Given the description of an element on the screen output the (x, y) to click on. 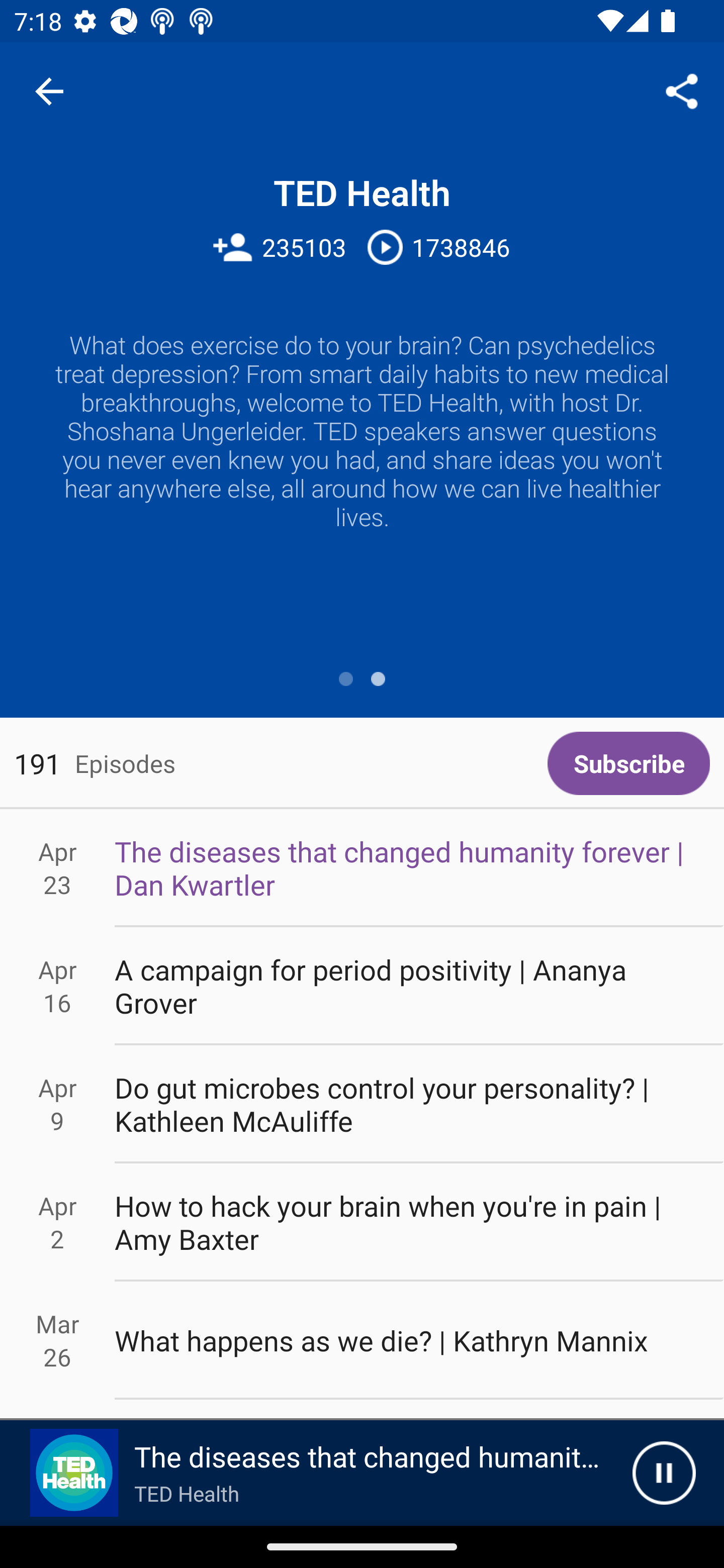
Navigate up (49, 91)
Share... (681, 90)
Subscribe (628, 763)
Mar 26 What happens as we die? | Kathryn Mannix (362, 1340)
Pause (663, 1472)
